Given the description of an element on the screen output the (x, y) to click on. 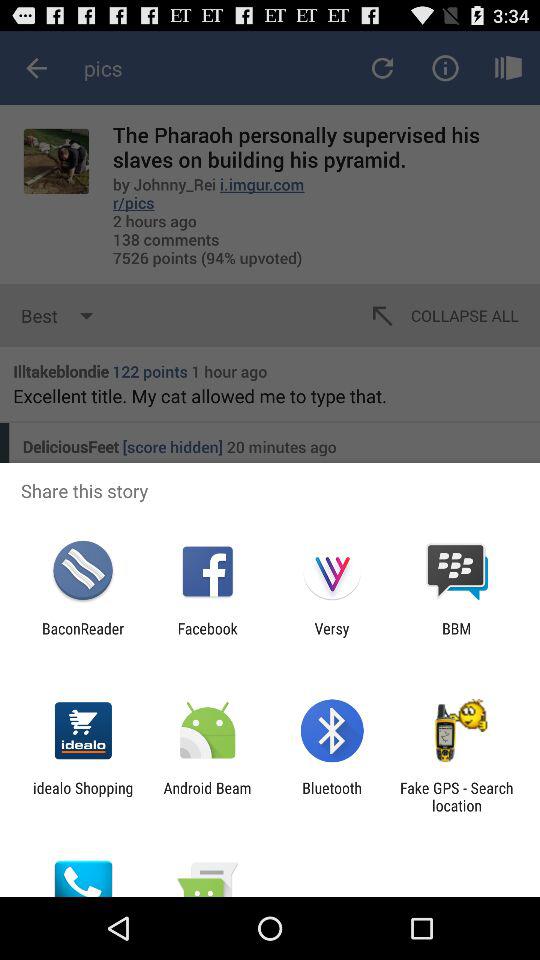
launch icon to the right of the facebook (331, 637)
